Given the description of an element on the screen output the (x, y) to click on. 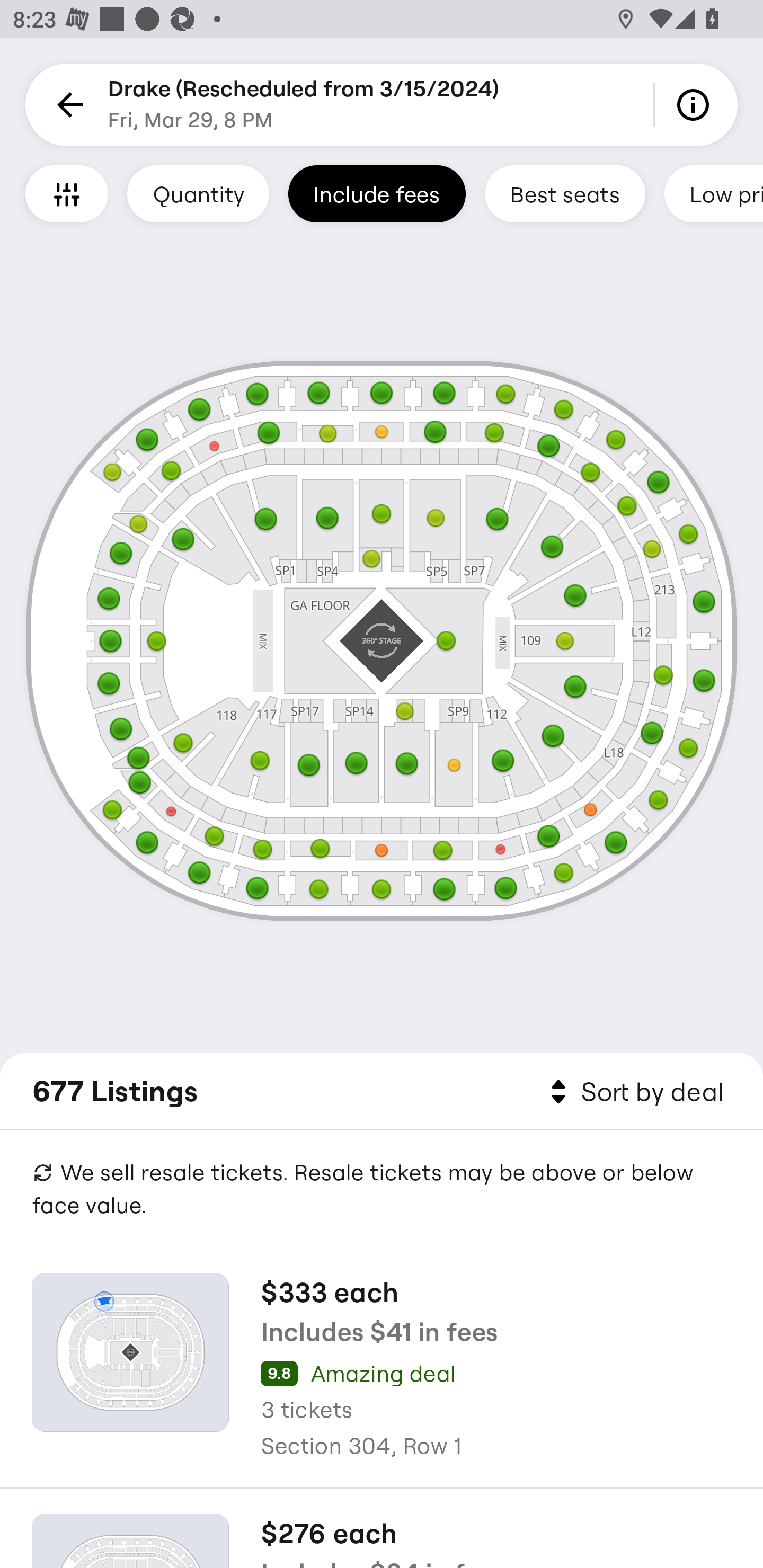
Back (66, 104)
Info (695, 104)
Filters and Accessible Seating (66, 193)
Quantity (198, 193)
Include fees (376, 193)
Best seats (564, 193)
Low prices (713, 193)
Sort by deal (633, 1091)
